Given the description of an element on the screen output the (x, y) to click on. 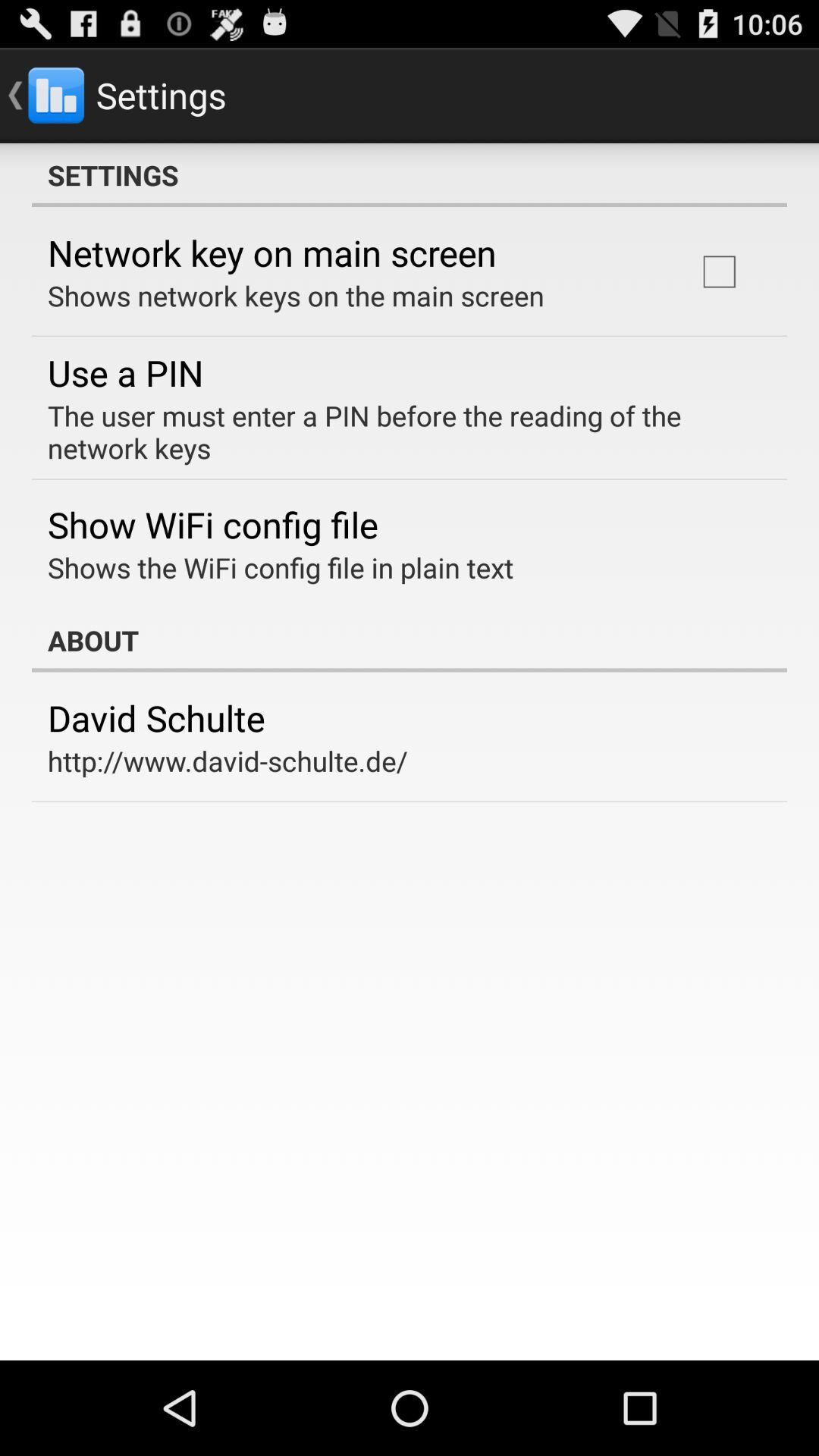
turn off item at the top right corner (719, 271)
